Given the description of an element on the screen output the (x, y) to click on. 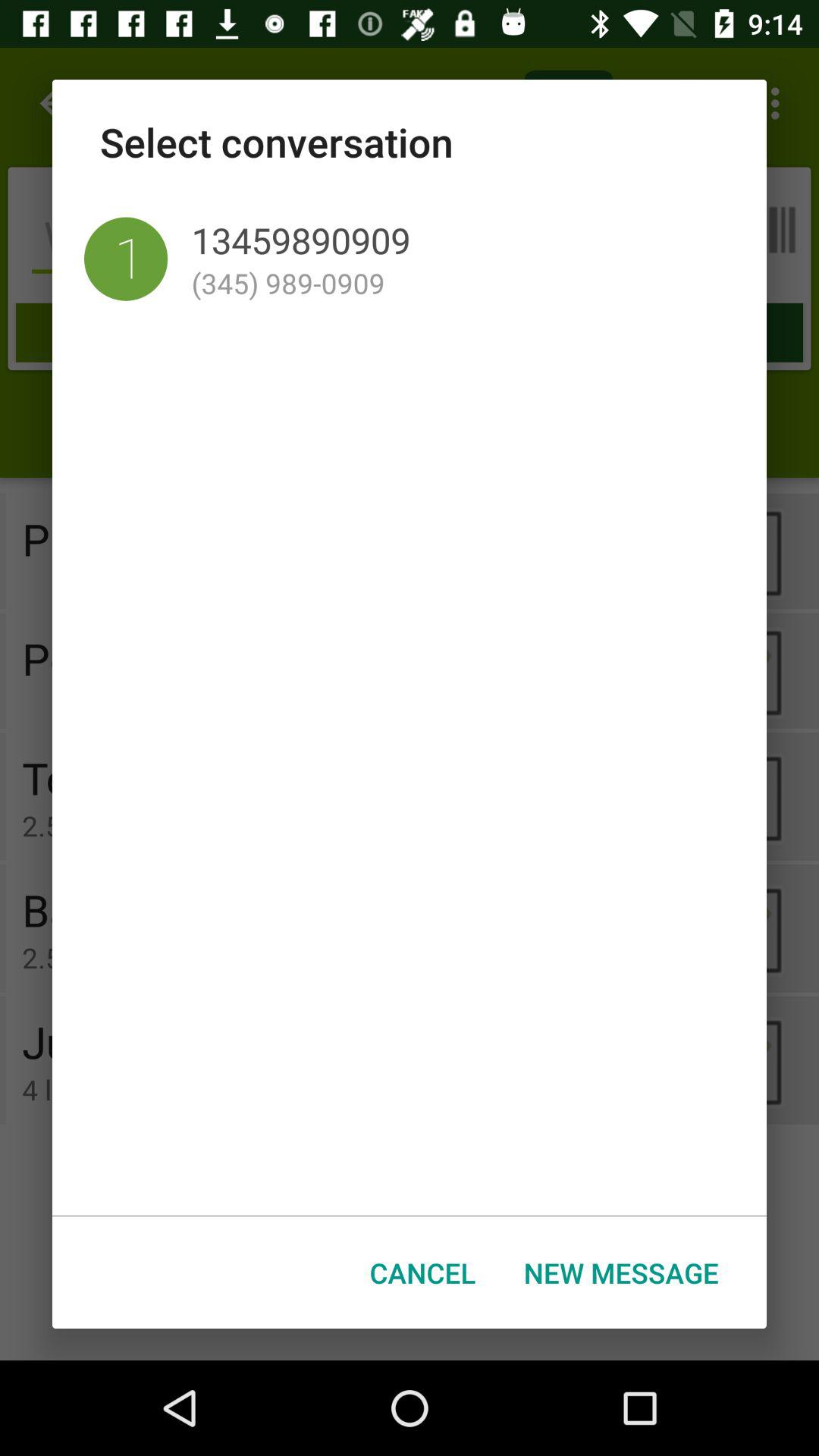
select the item to the left of the 13459890909 item (125, 258)
